Given the description of an element on the screen output the (x, y) to click on. 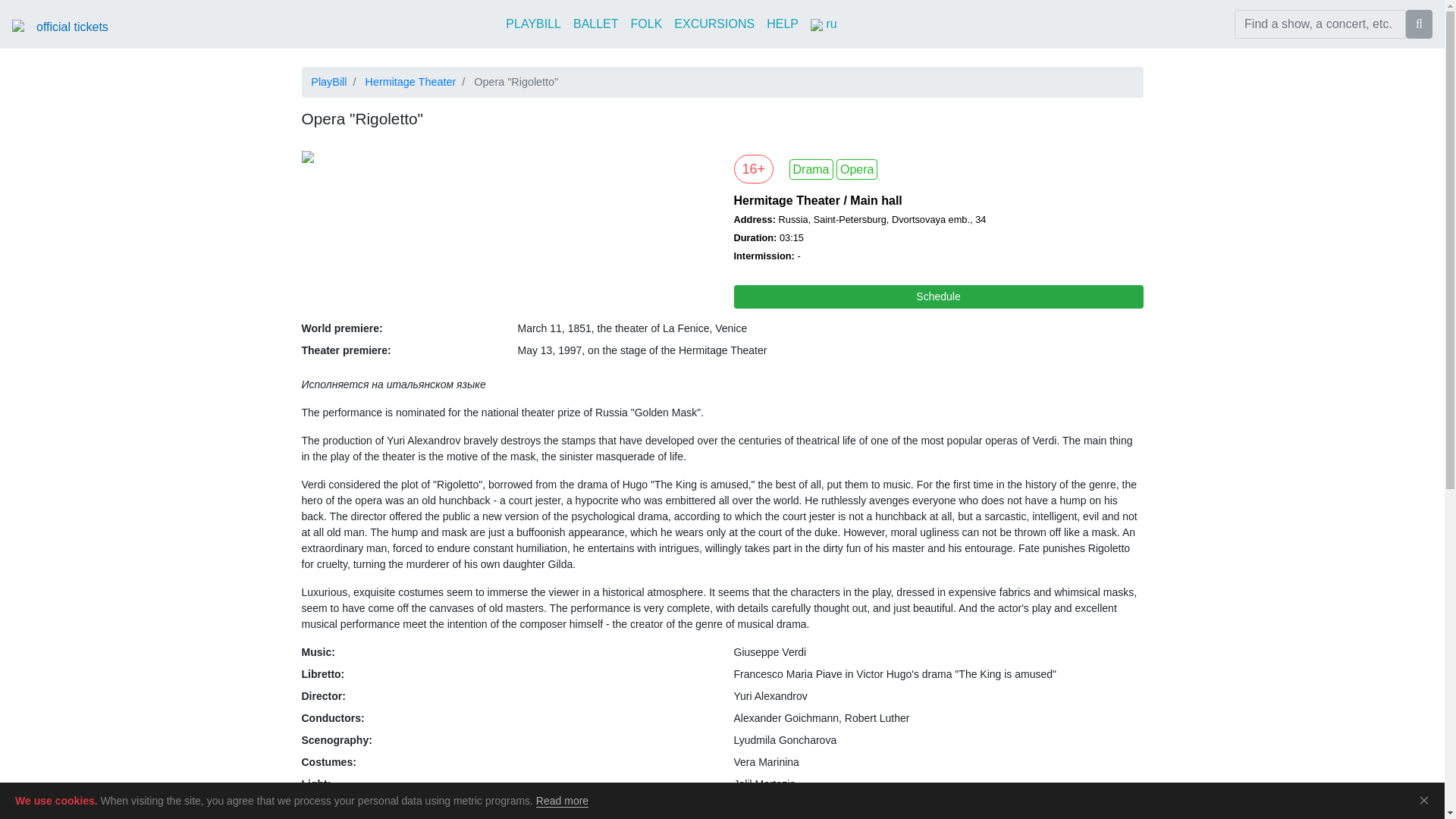
ru (824, 24)
FOLK (646, 24)
Read more (561, 800)
PLAYBILL (533, 24)
All tickets without service charge, commission and surplus (71, 27)
EXCURSIONS (714, 24)
PlayBill (328, 81)
BALLET (595, 24)
HELP (782, 24)
Hermitage Theater (410, 81)
Schedule (937, 296)
